Given the description of an element on the screen output the (x, y) to click on. 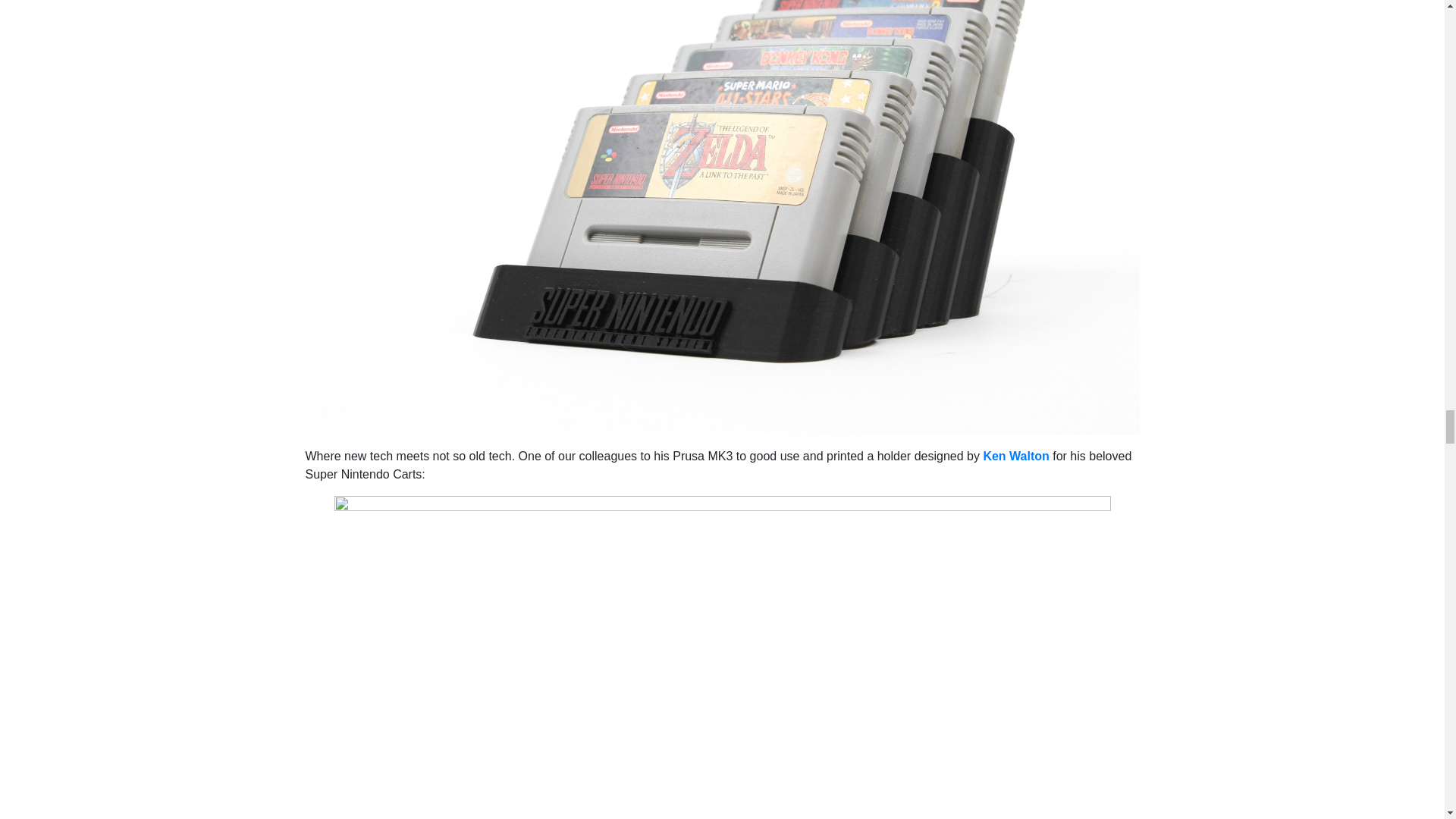
SNES Cart Holder (721, 155)
